Given the description of an element on the screen output the (x, y) to click on. 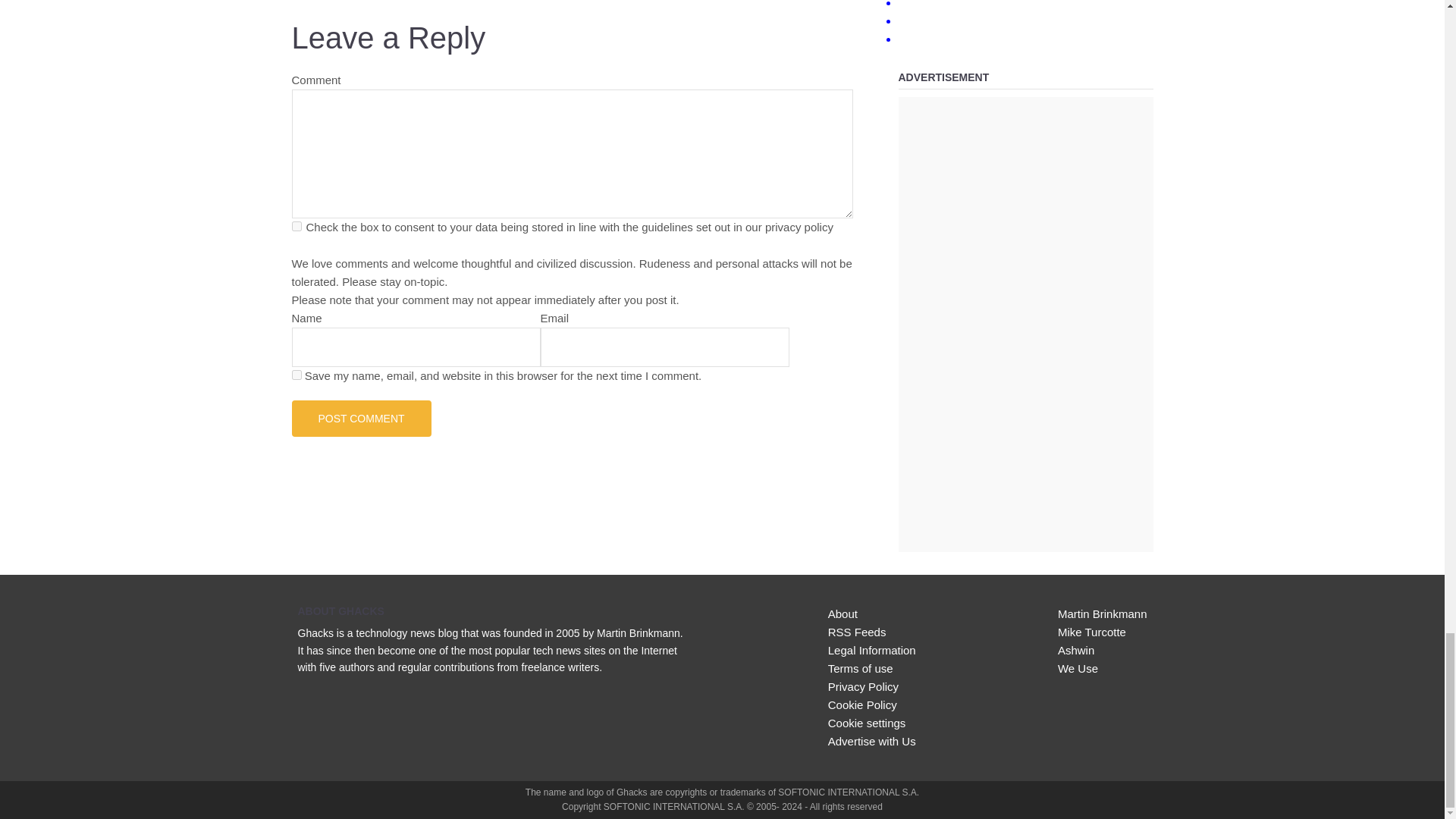
Post Comment (360, 418)
privacy-key (296, 225)
yes (296, 375)
